Given the description of an element on the screen output the (x, y) to click on. 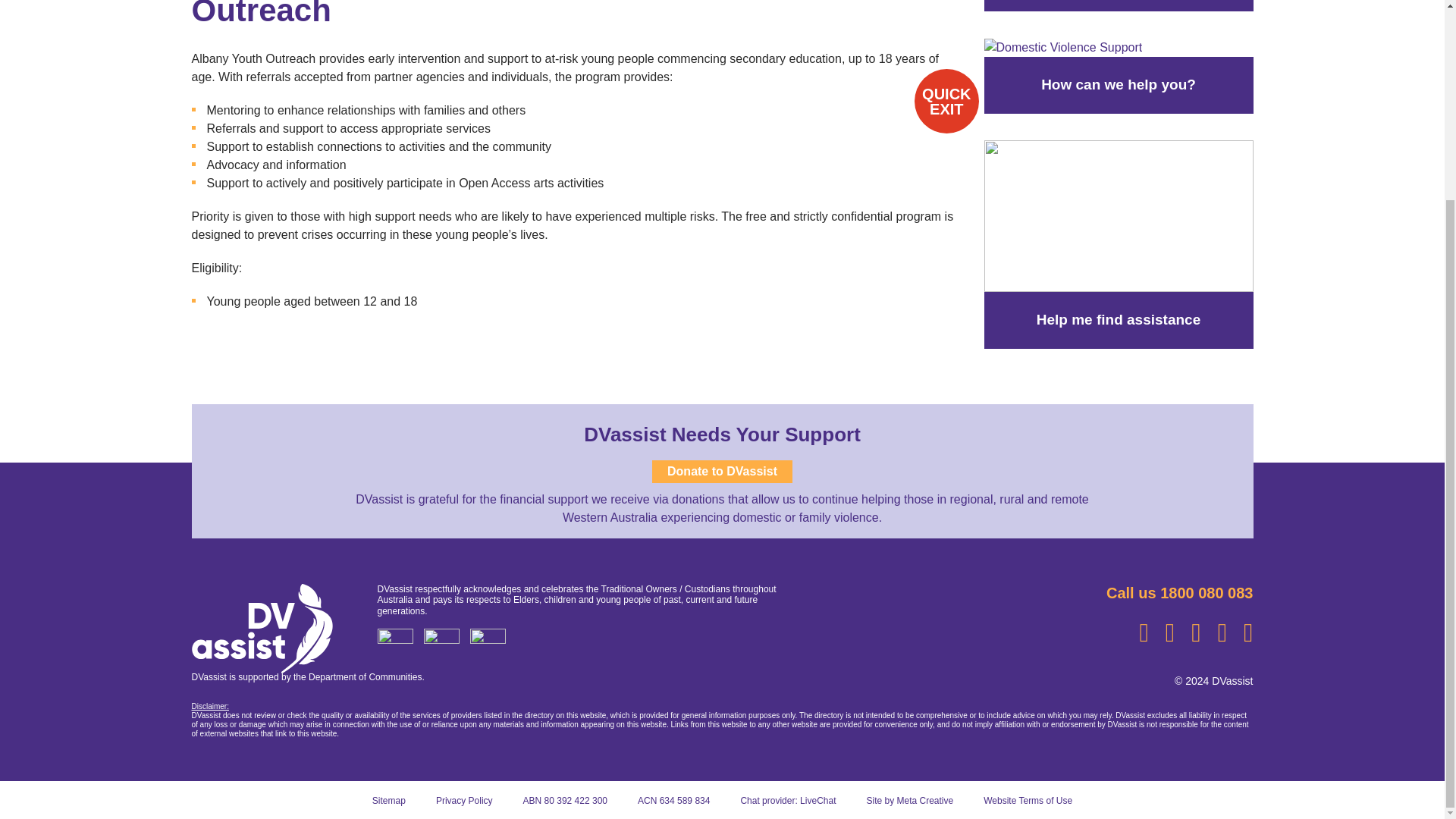
Donate to DVassist (722, 471)
ACN 634 589 834 (673, 800)
Help me find assistance (1118, 215)
Sitemap (389, 800)
Privacy Policy (464, 800)
Chat provider: LiveChat (787, 800)
ABN 80 392 422 300 (564, 800)
Website Terms of Use (1027, 800)
Site by Meta Creative (909, 800)
How can we help you? (1063, 47)
